Given the description of an element on the screen output the (x, y) to click on. 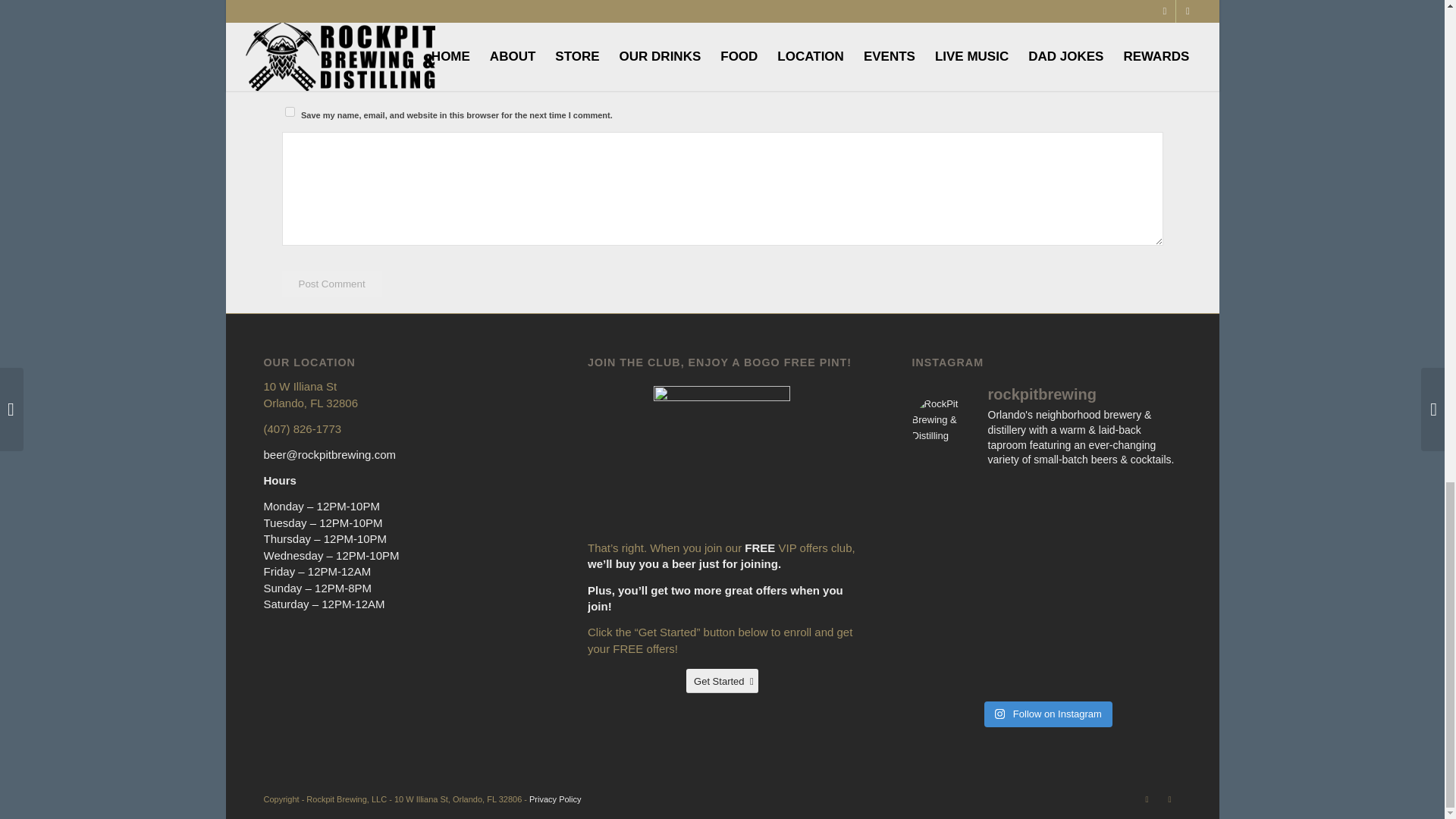
yes (290, 112)
Post Comment (331, 283)
Post Comment (331, 283)
Get Started (721, 681)
